Given the description of an element on the screen output the (x, y) to click on. 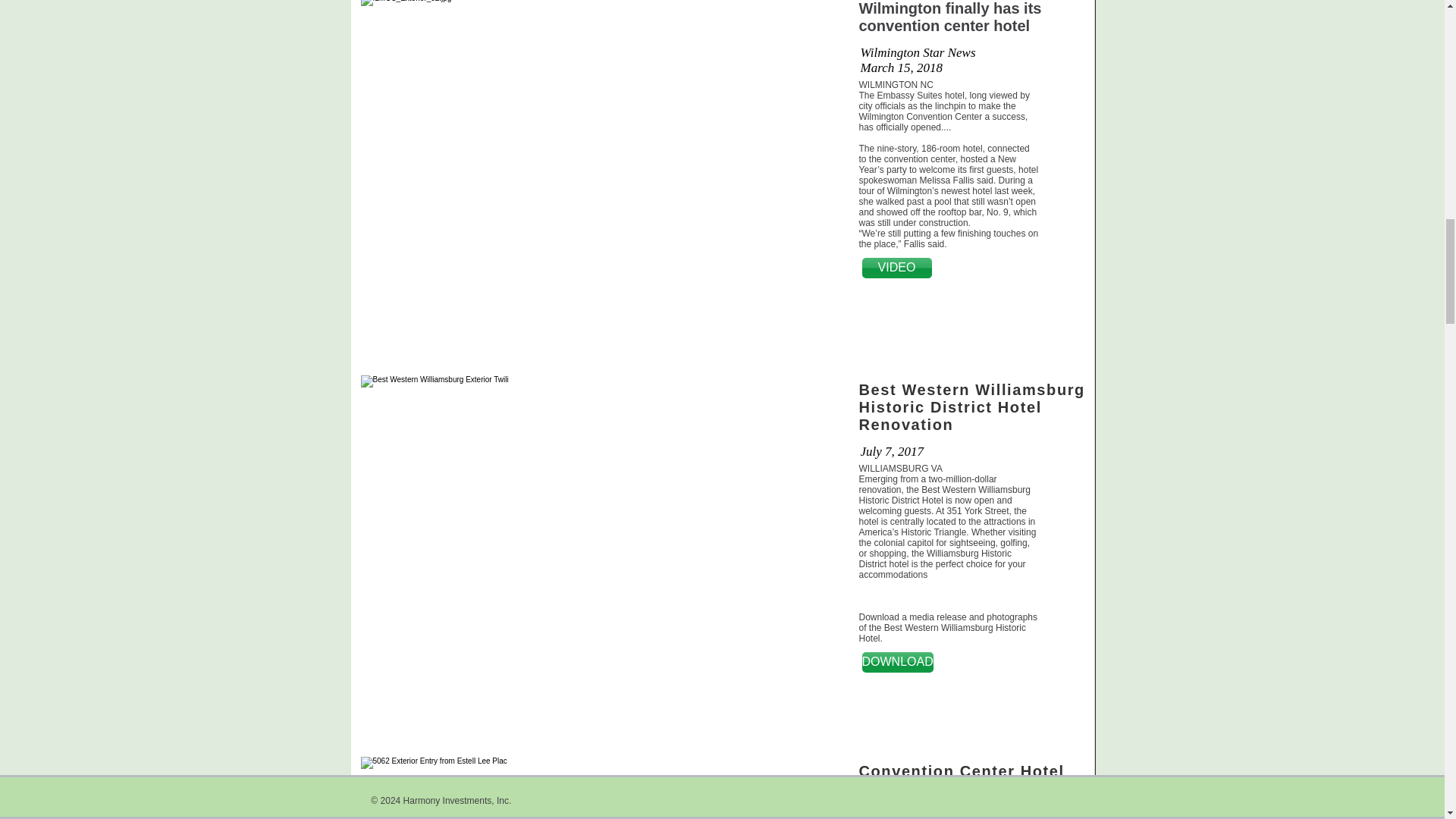
VIDEO (896, 267)
DOWNLOAD (897, 661)
